Given the description of an element on the screen output the (x, y) to click on. 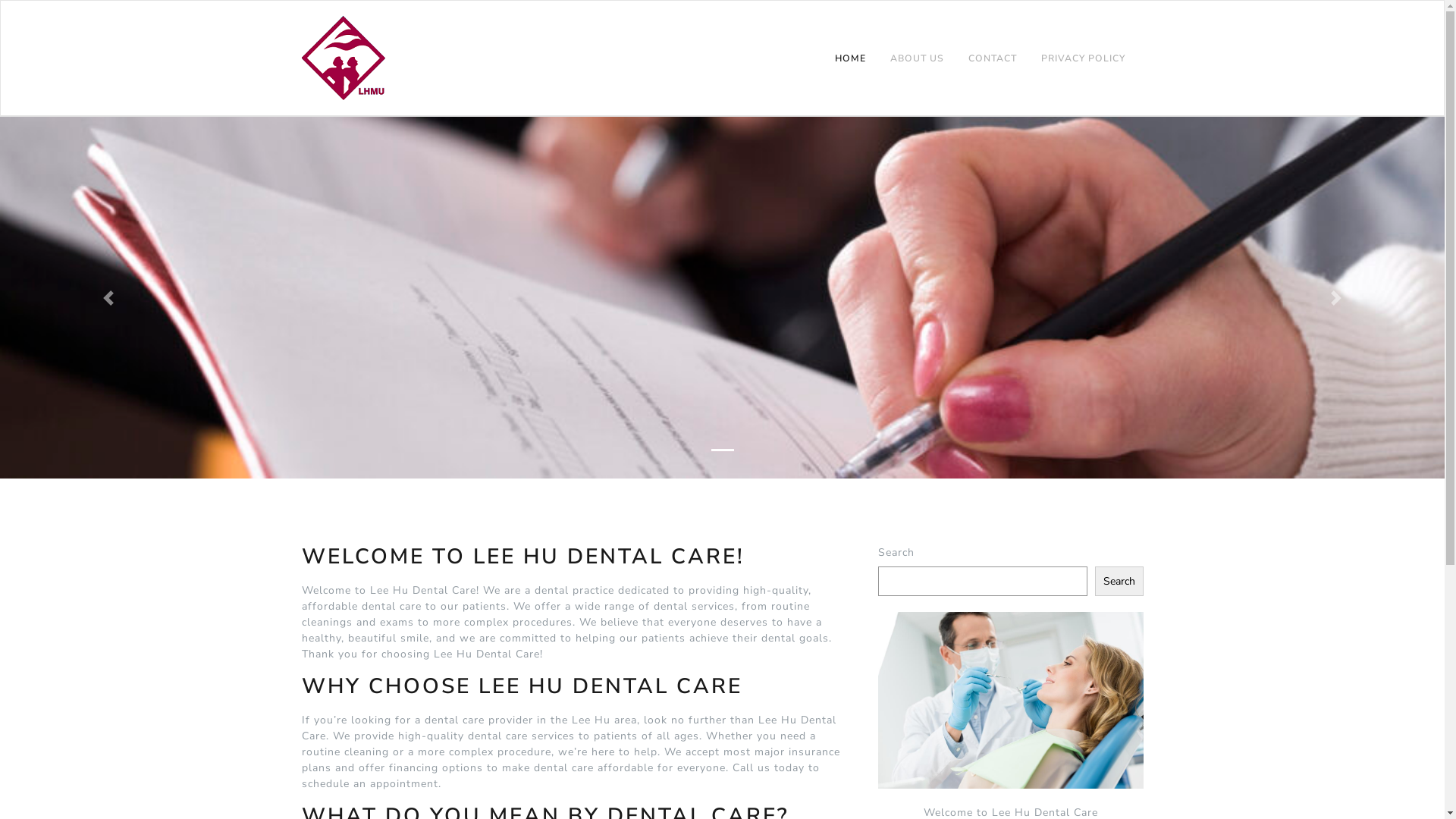
Next Element type: text (1335, 296)
Previous Element type: text (108, 296)
PRIVACY POLICY Element type: text (1082, 58)
CONTACT Element type: text (991, 58)
ABOUT US Element type: text (917, 58)
Search Element type: text (1119, 581)
HOME Element type: text (849, 58)
